Given the description of an element on the screen output the (x, y) to click on. 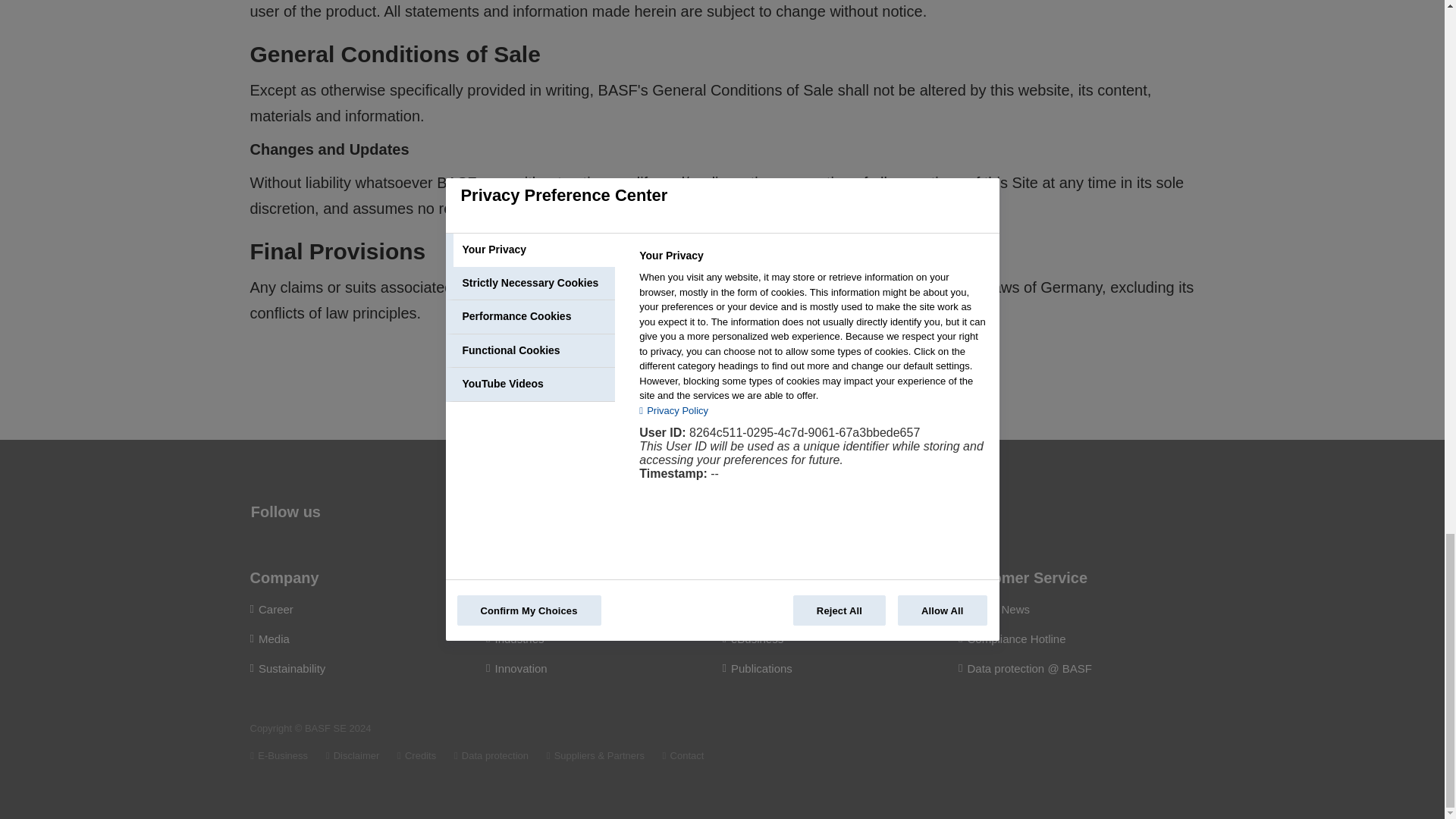
Follow us on Instagram (624, 507)
Credits (416, 755)
Disclaimer (353, 755)
Data protection (491, 755)
Join us in LinkedIn (501, 507)
Join us in Facebook (563, 507)
E-Business  (278, 755)
Contact (683, 755)
